Given the description of an element on the screen output the (x, y) to click on. 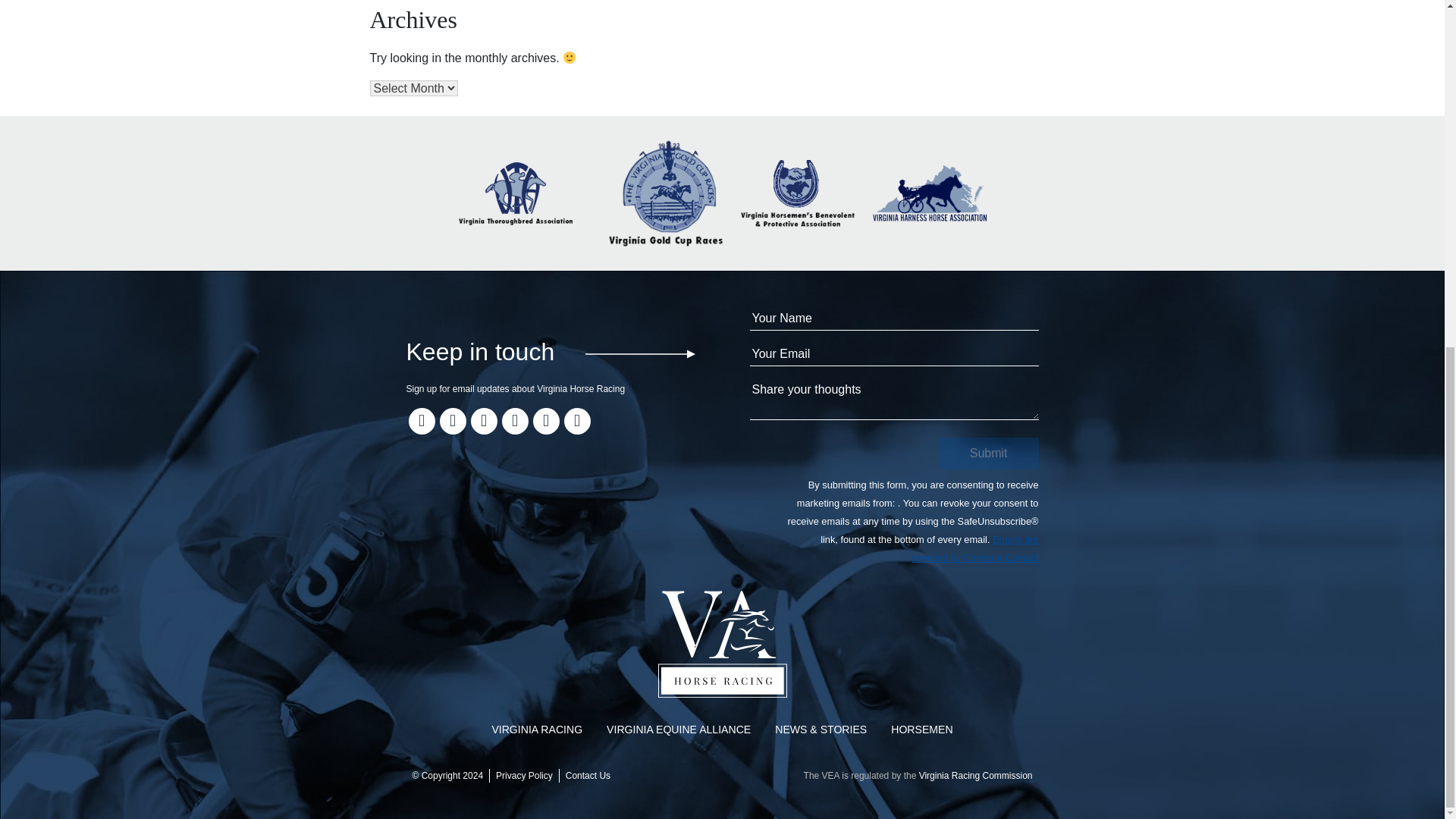
Submit (989, 453)
